Given the description of an element on the screen output the (x, y) to click on. 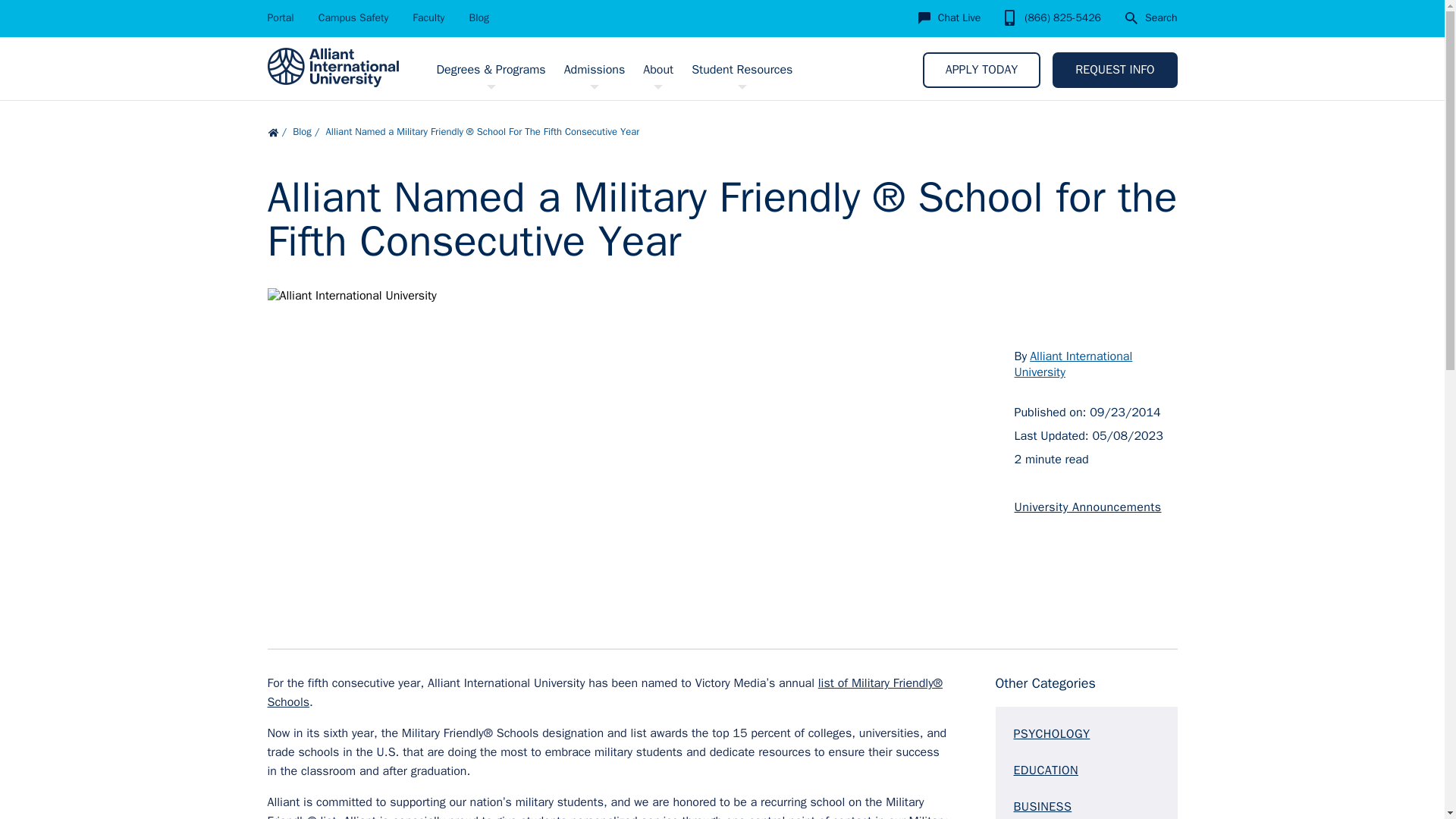
Campus Safety (353, 17)
Alliant 2015 Military Friendly Schools profile (604, 692)
Faculty (428, 17)
Blog (478, 17)
Portal (280, 17)
